Given the description of an element on the screen output the (x, y) to click on. 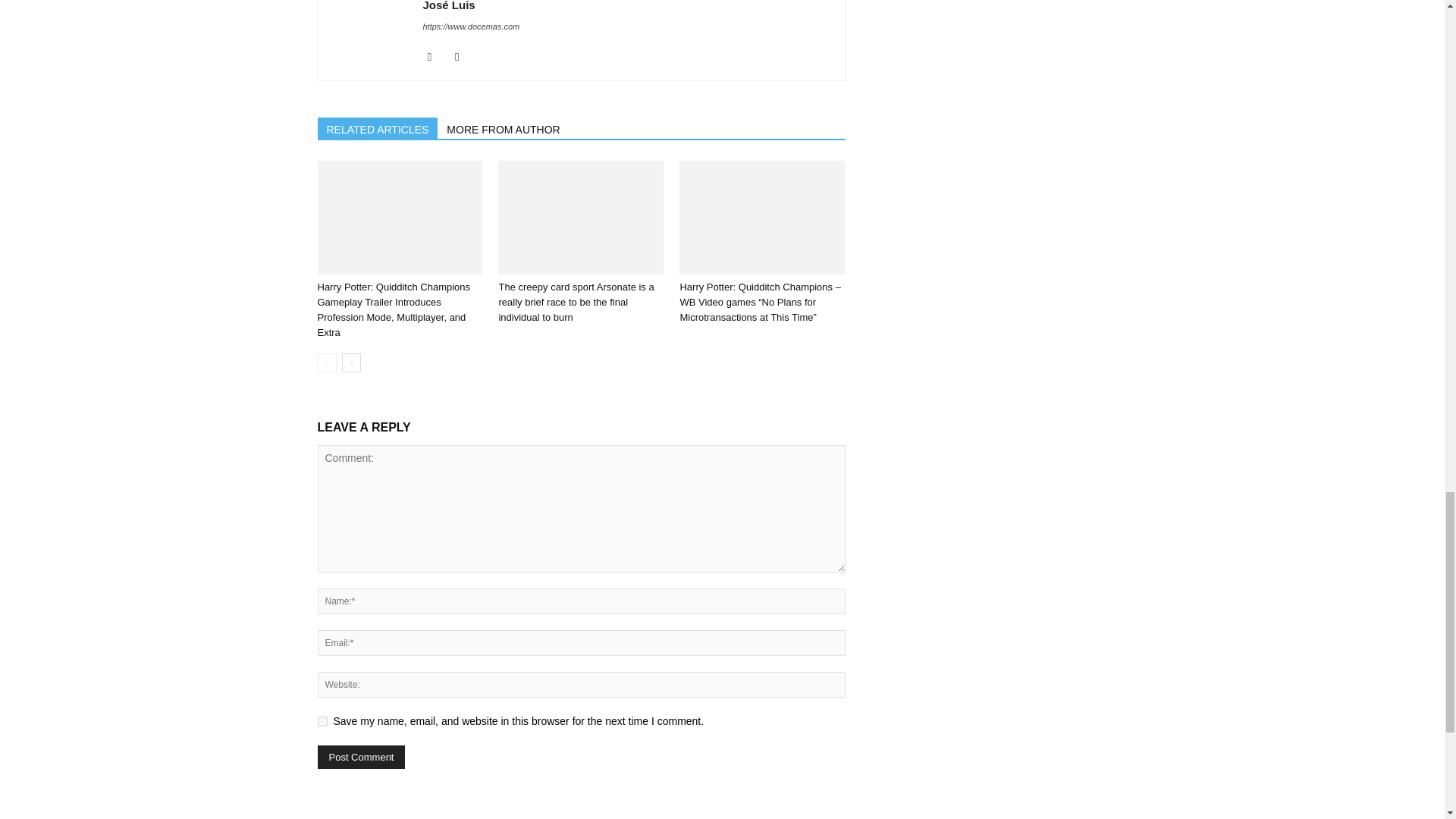
yes (321, 721)
Linkedin (462, 56)
Instagram (435, 56)
Post Comment (360, 757)
